Given the description of an element on the screen output the (x, y) to click on. 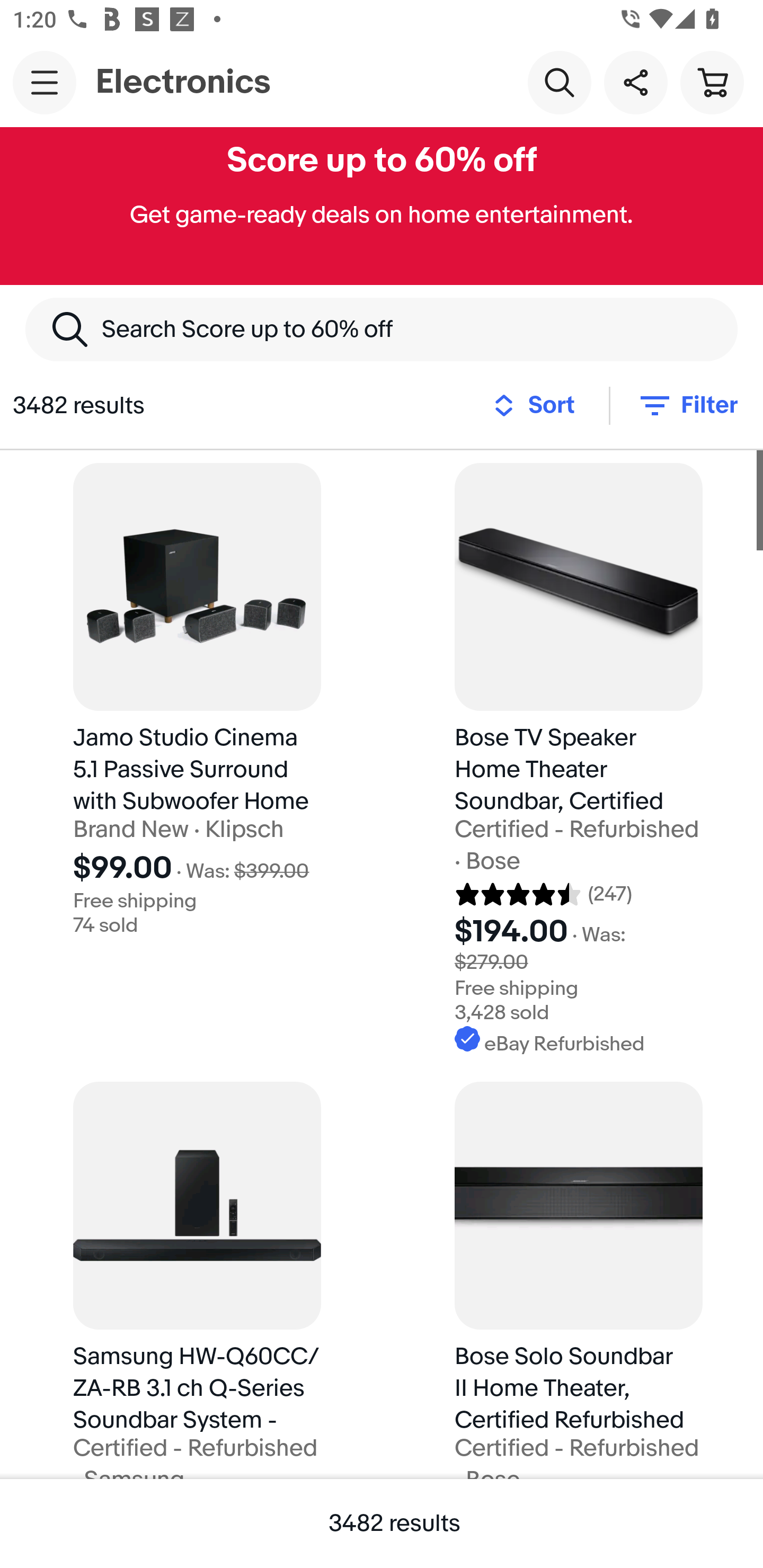
Main navigation, open (44, 82)
Search (559, 81)
Share this page (635, 81)
Cart button shopping cart (711, 81)
Search Score up to 60% off (381, 328)
Sort (538, 405)
Filter (686, 405)
